Given the description of an element on the screen output the (x, y) to click on. 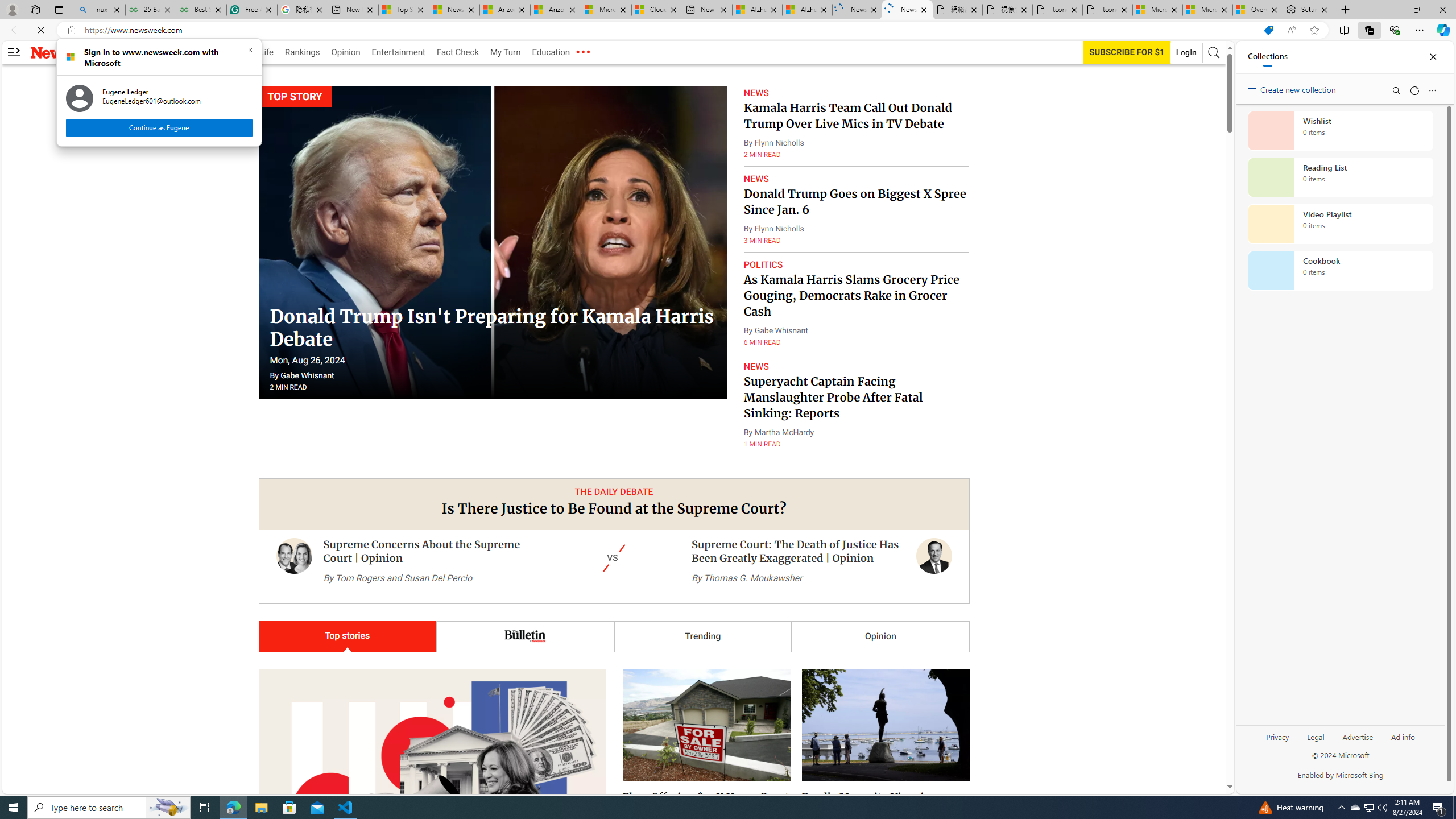
Class: the-red (582, 51)
By Flynn Nicholls (773, 228)
Opinion (880, 636)
Create new collection (1293, 87)
Fact Check (457, 52)
Heat warning (1290, 807)
News - MSN (453, 9)
Continue as Eugene (158, 127)
Free AI Writing Assistance for Students | Grammarly (251, 9)
My Turn (505, 52)
